Given the description of an element on the screen output the (x, y) to click on. 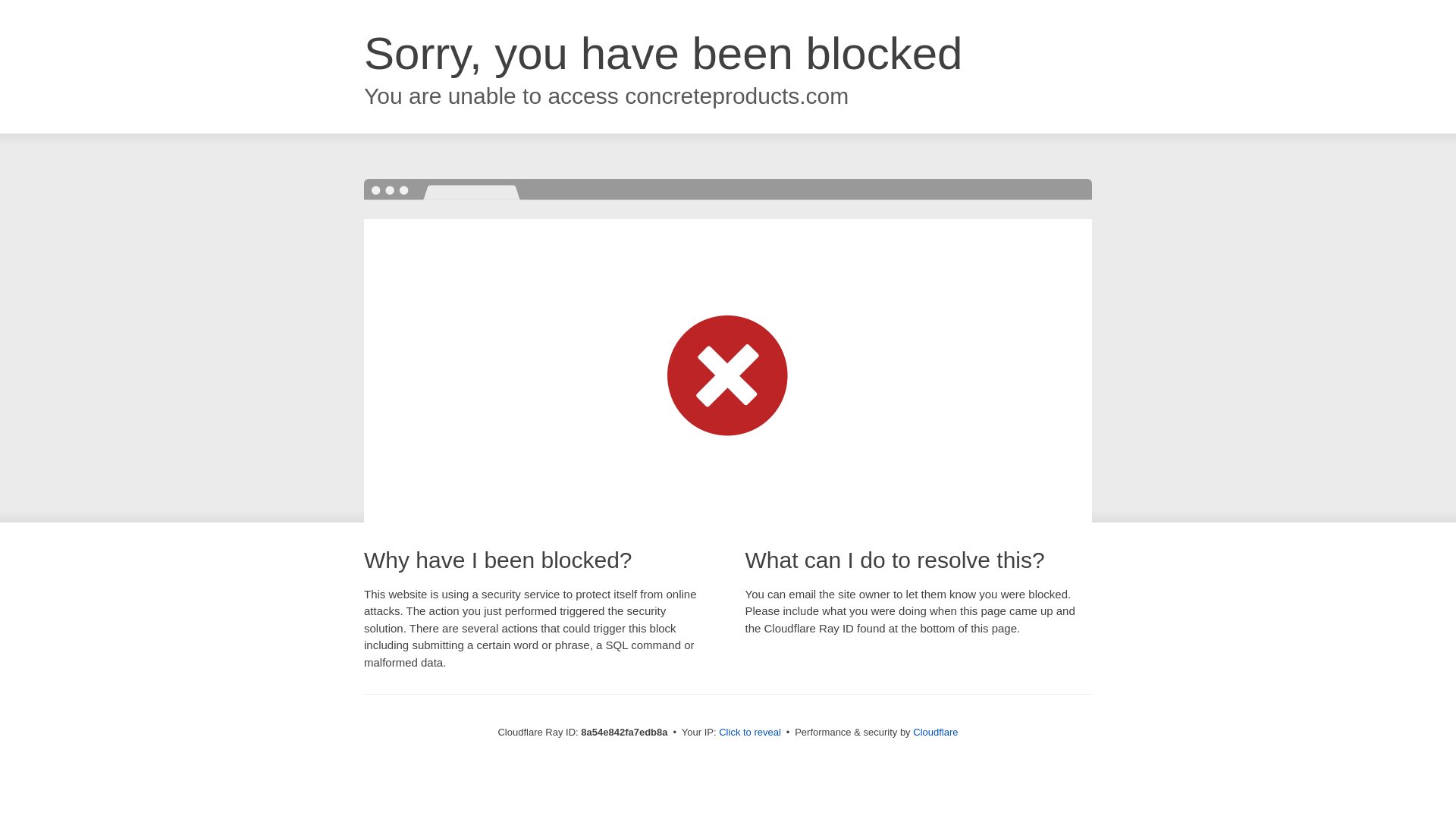
Click to reveal (749, 732)
Cloudflare (935, 731)
